Given the description of an element on the screen output the (x, y) to click on. 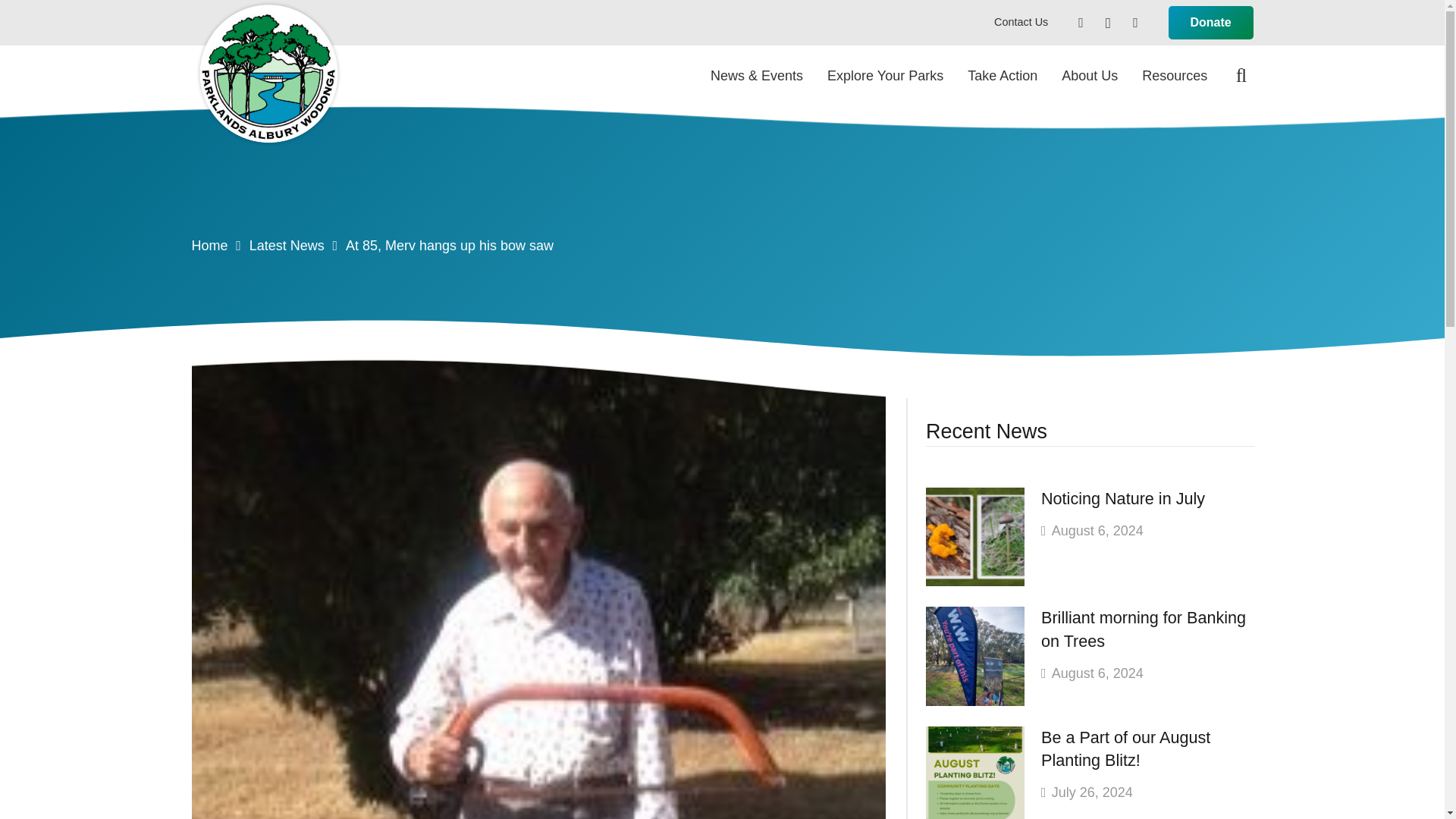
Instagram (1107, 22)
Take Action (1002, 75)
Facebook (1080, 22)
YouTube (1134, 22)
Donate (1211, 22)
Contact Us (1021, 21)
About Us (1089, 75)
Explore Your Parks (885, 75)
Resources (1174, 75)
